Given the description of an element on the screen output the (x, y) to click on. 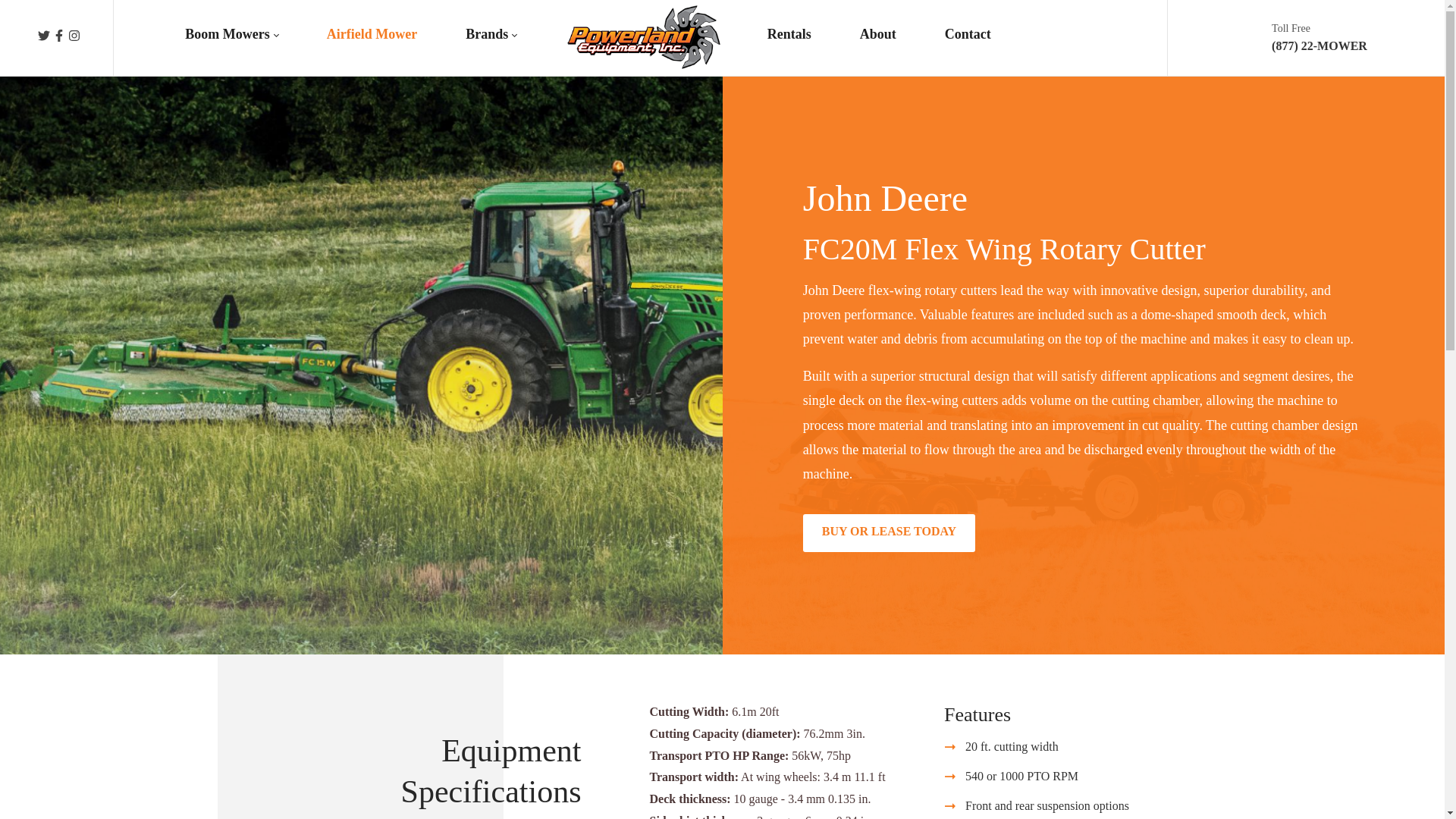
Rentals (789, 37)
powerlandequipment.com (642, 38)
twitter (44, 37)
Contact (967, 37)
Airfield Mower (371, 37)
About (877, 37)
BUY OR LEASE TODAY (889, 533)
Boom Mowers (230, 37)
facebook (60, 37)
Brands (490, 37)
